Given the description of an element on the screen output the (x, y) to click on. 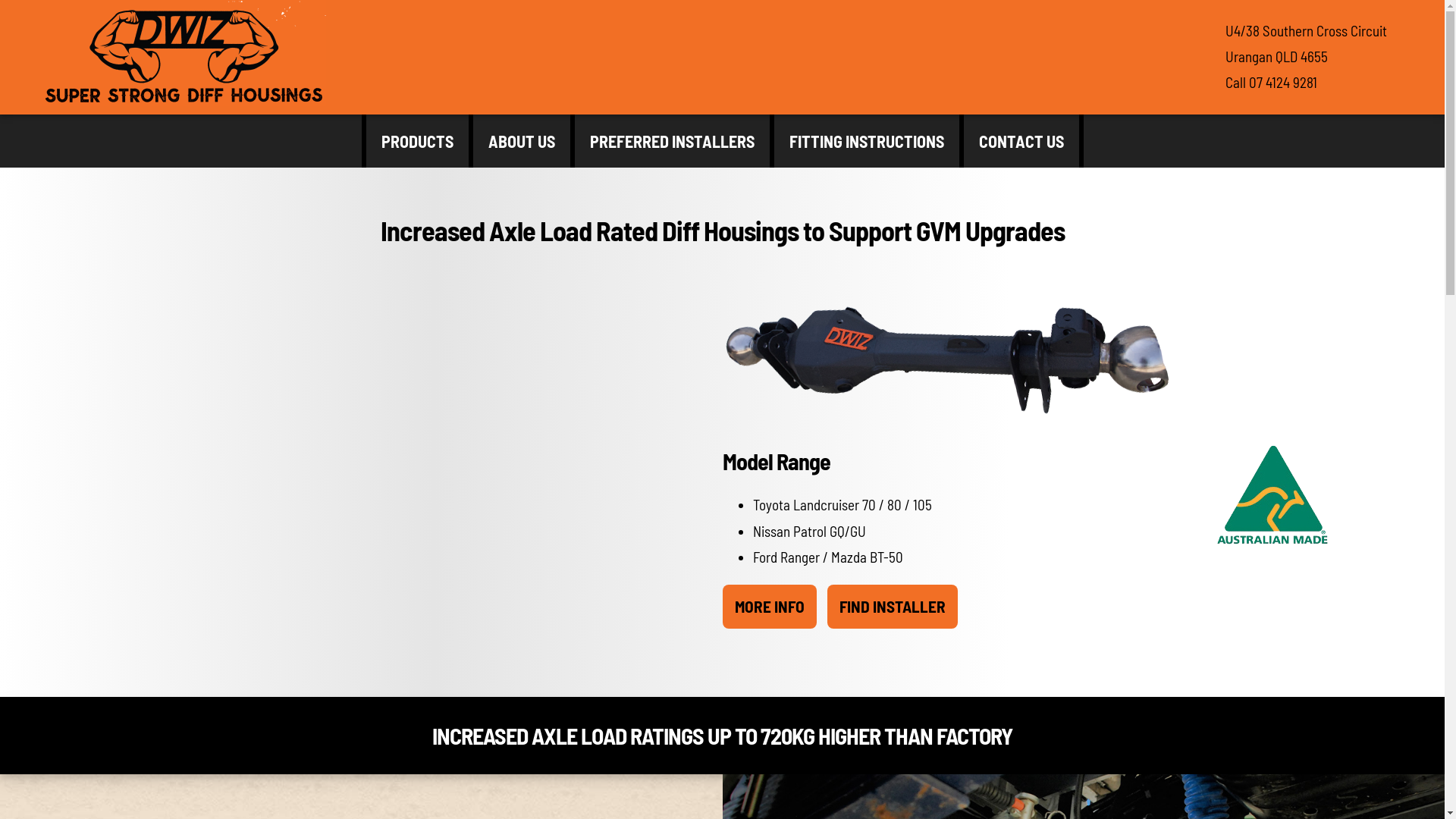
ABOUT US Element type: text (521, 140)
PREFERRED INSTALLERS Element type: text (671, 140)
MORE INFO Element type: text (768, 606)
YouTube video player Element type: hover (407, 444)
CONTACT US Element type: text (1020, 140)
FITTING INSTRUCTIONS Element type: text (865, 140)
PRODUCTS Element type: text (416, 140)
FIND INSTALLER Element type: text (891, 606)
